Given the description of an element on the screen output the (x, y) to click on. 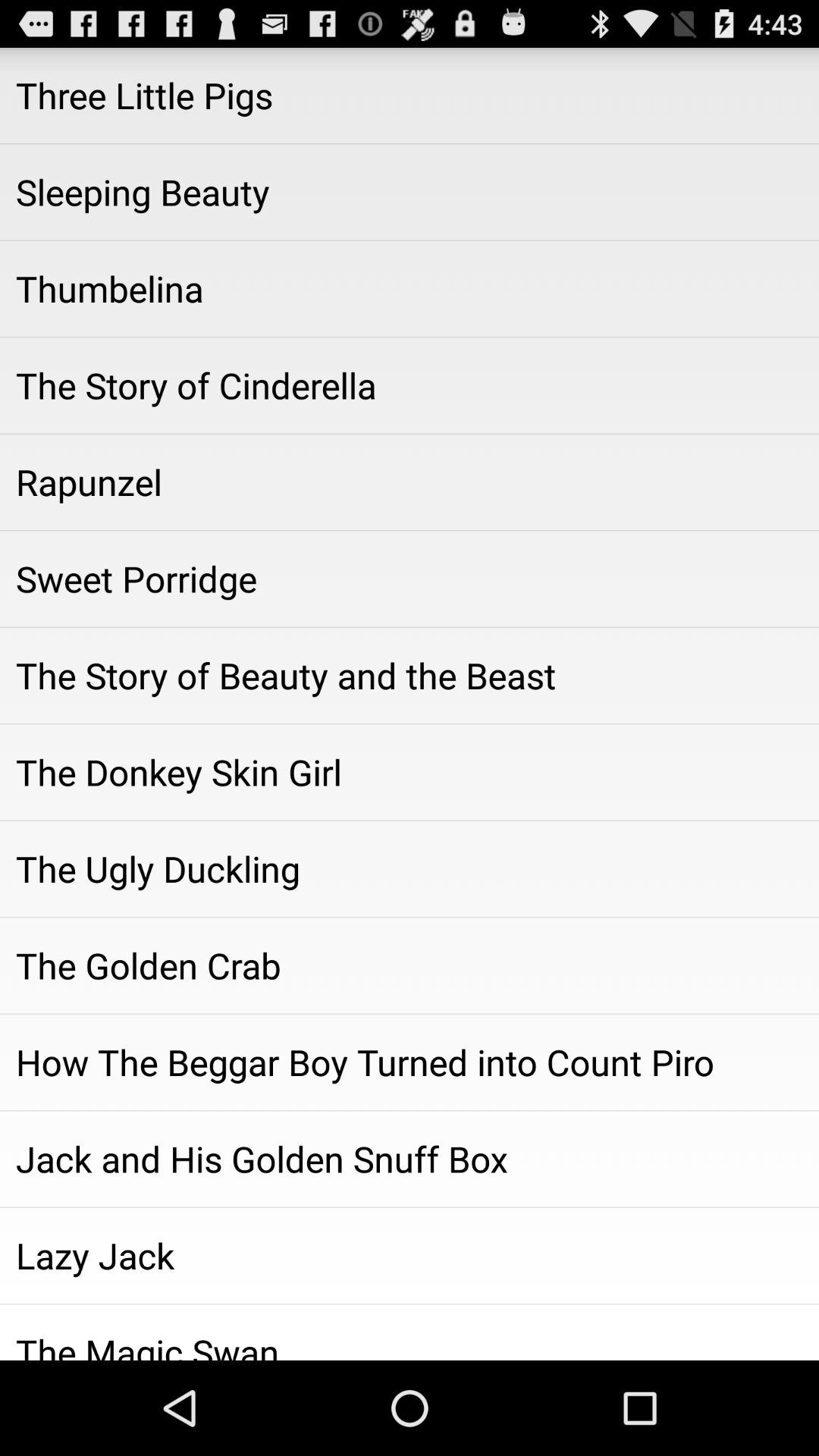
jump until the donkey skin (409, 772)
